Given the description of an element on the screen output the (x, y) to click on. 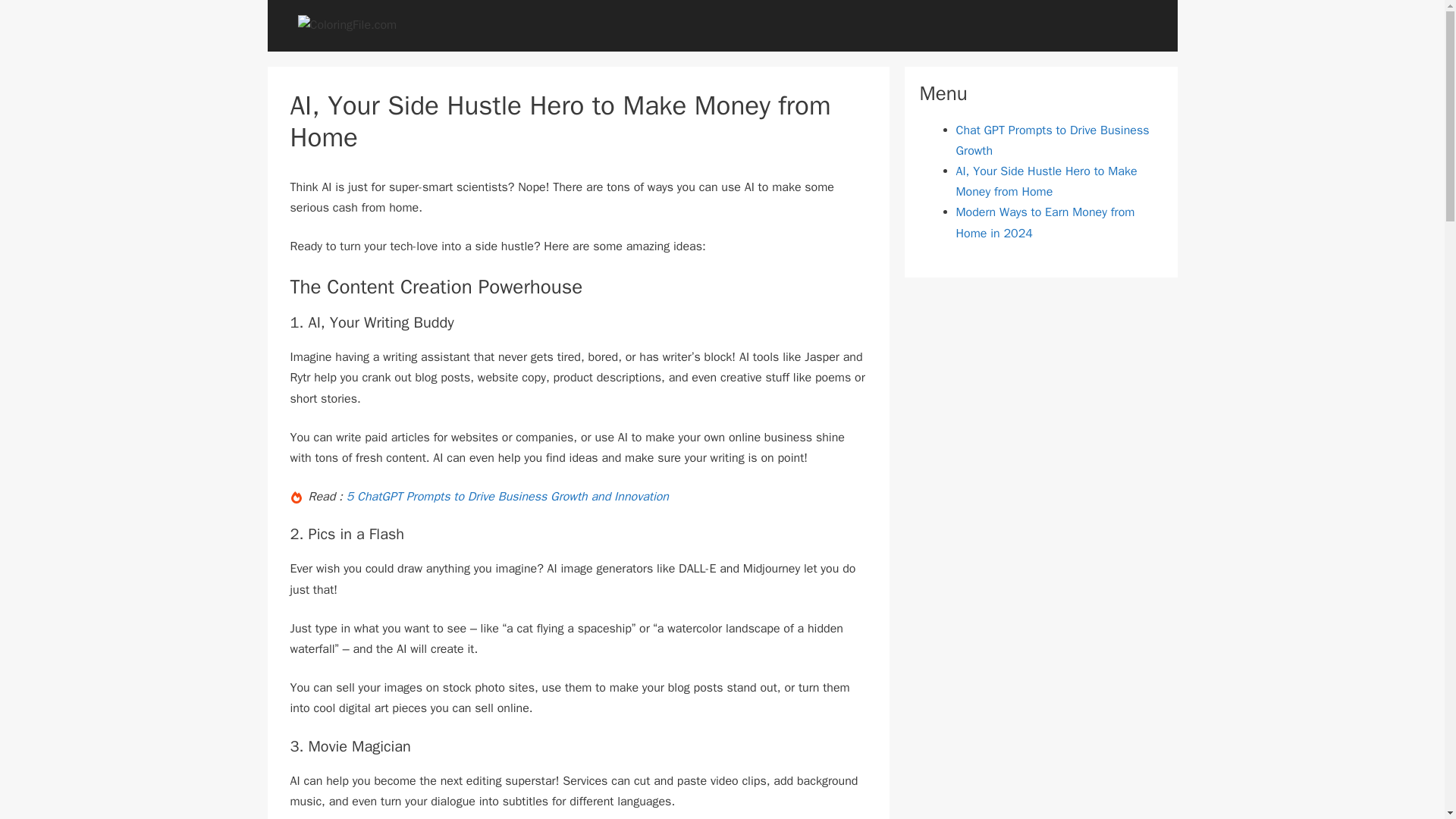
AI, Your Side Hustle Hero to Make Money from Home (1046, 181)
Chat GPT Prompts to Drive Business Growth (1051, 140)
Modern Ways to Earn Money from Home in 2024 (1044, 222)
5 ChatGPT Prompts to Drive Business Growth and Innovation (507, 496)
